Given the description of an element on the screen output the (x, y) to click on. 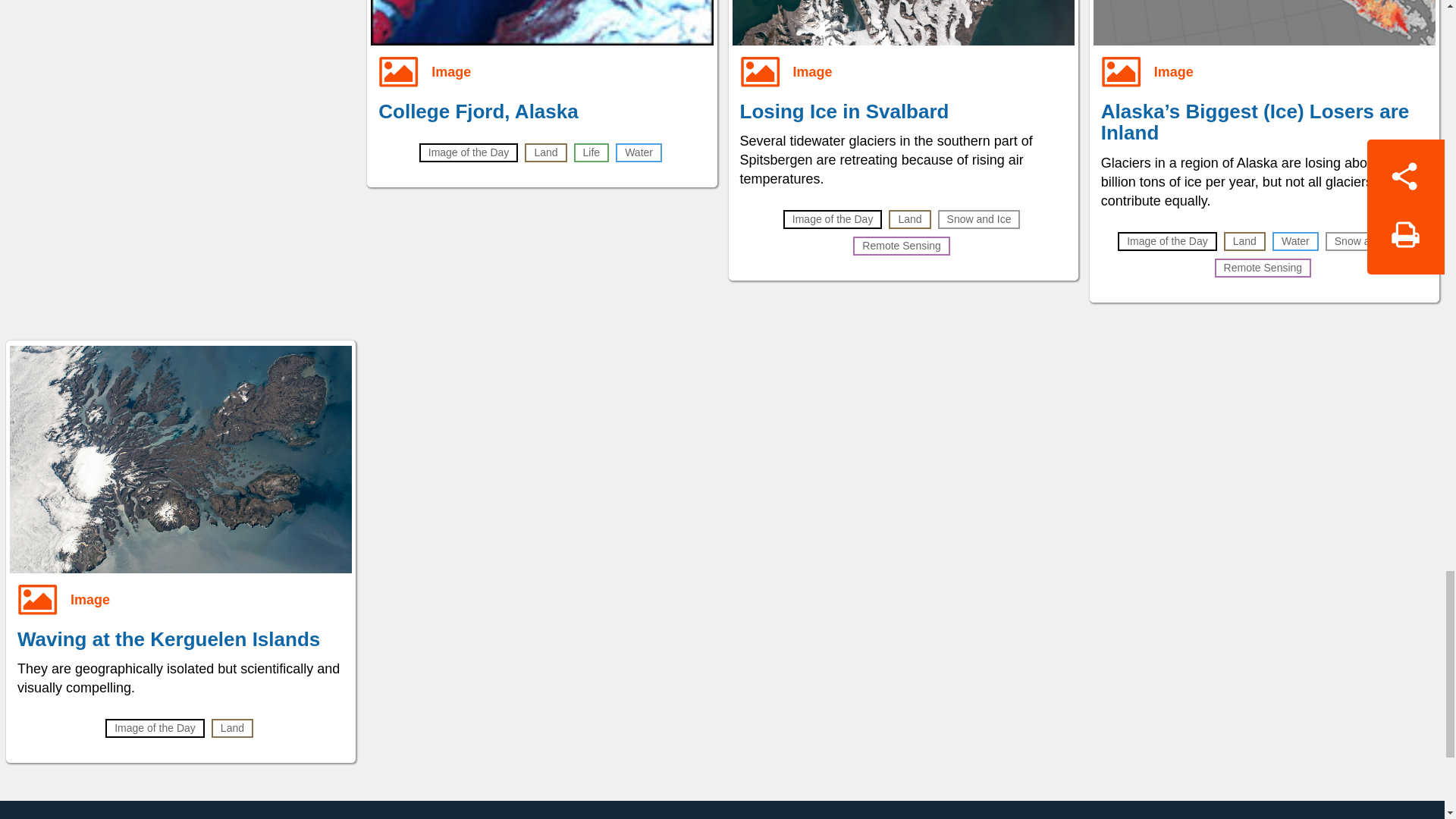
Earth Observatory (369, 815)
Facebook (689, 815)
Twitter (761, 815)
RSS (977, 815)
Subscribe (905, 815)
Instagram (833, 815)
